Given the description of an element on the screen output the (x, y) to click on. 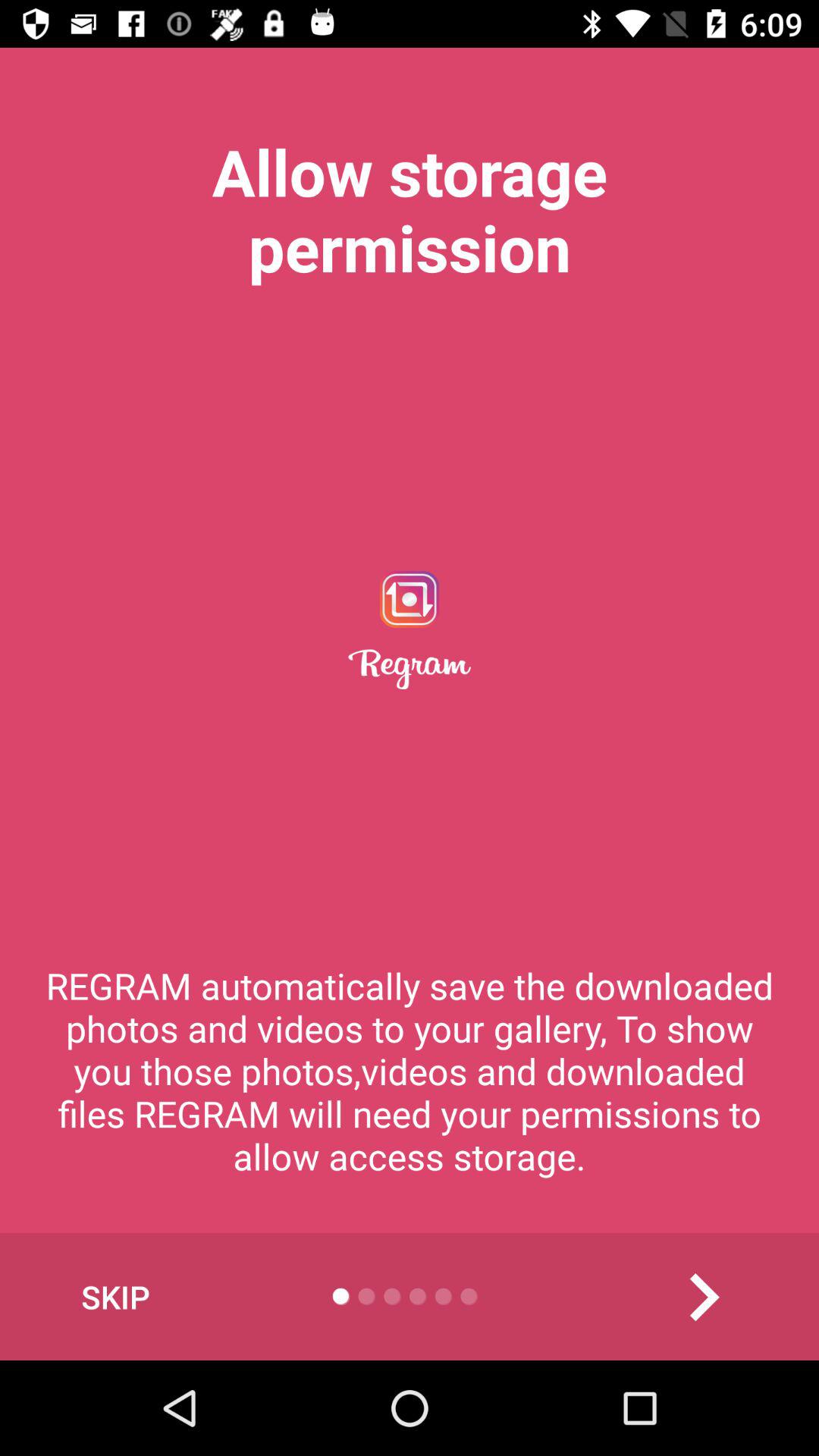
turn on the skip (114, 1296)
